Given the description of an element on the screen output the (x, y) to click on. 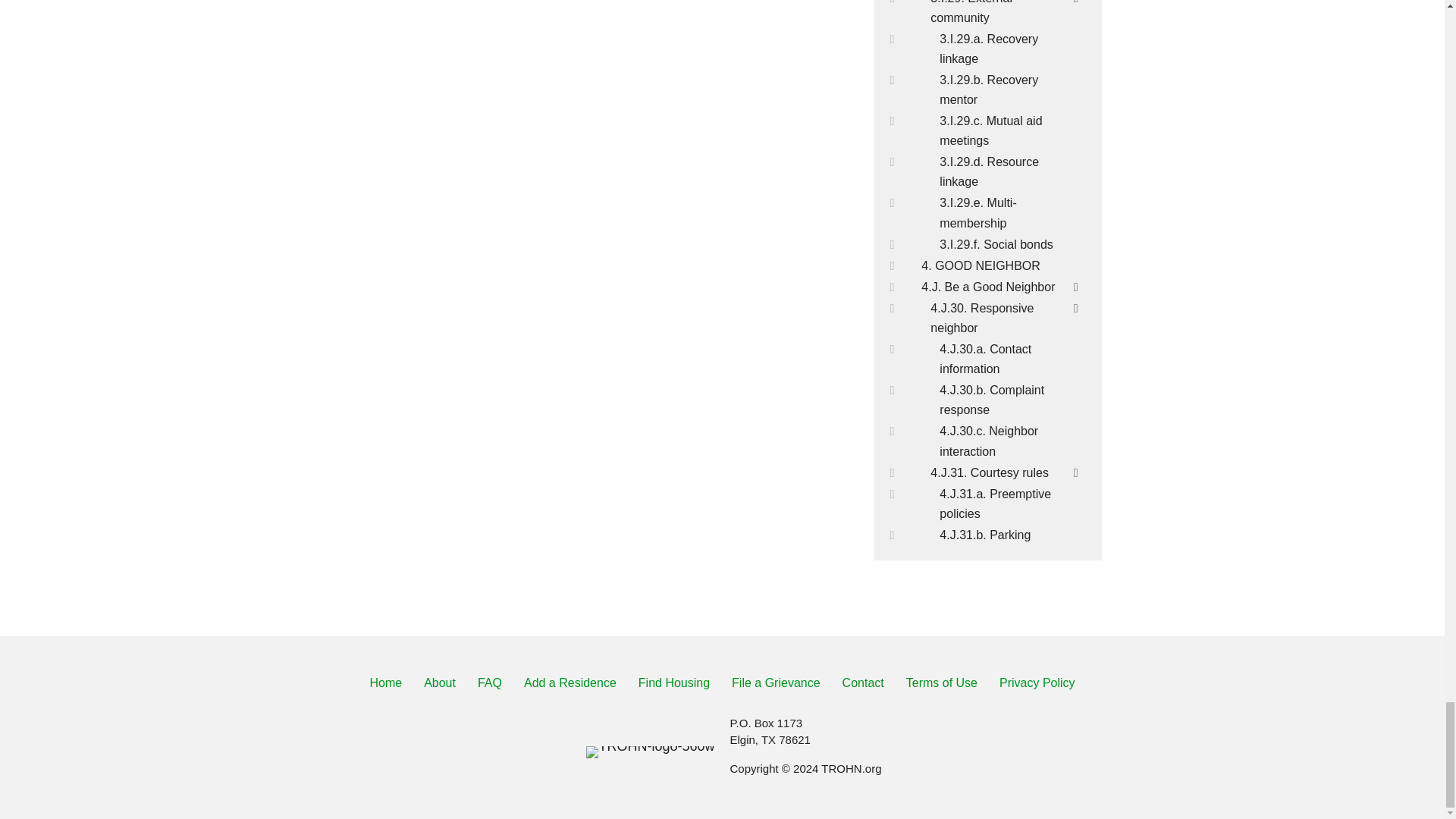
TROHN-logo-560w (650, 752)
